Given the description of an element on the screen output the (x, y) to click on. 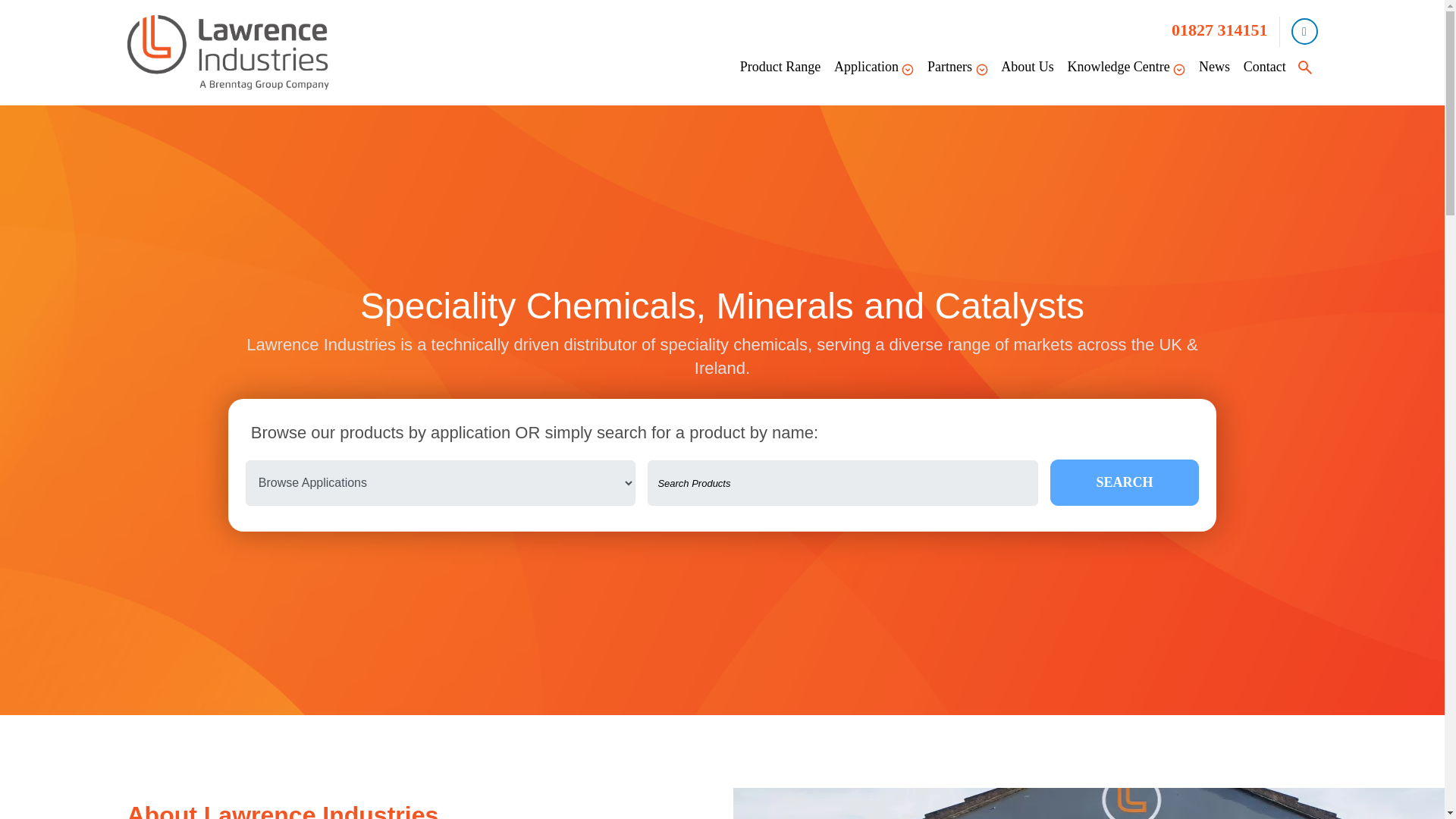
Product Range (780, 66)
Application (873, 66)
01827 314151 (1220, 29)
Lawrence Industries (228, 52)
Application (873, 66)
Partners (957, 66)
Product Range (780, 66)
Follow us (1303, 31)
01827 314151 (1220, 29)
